Given the description of an element on the screen output the (x, y) to click on. 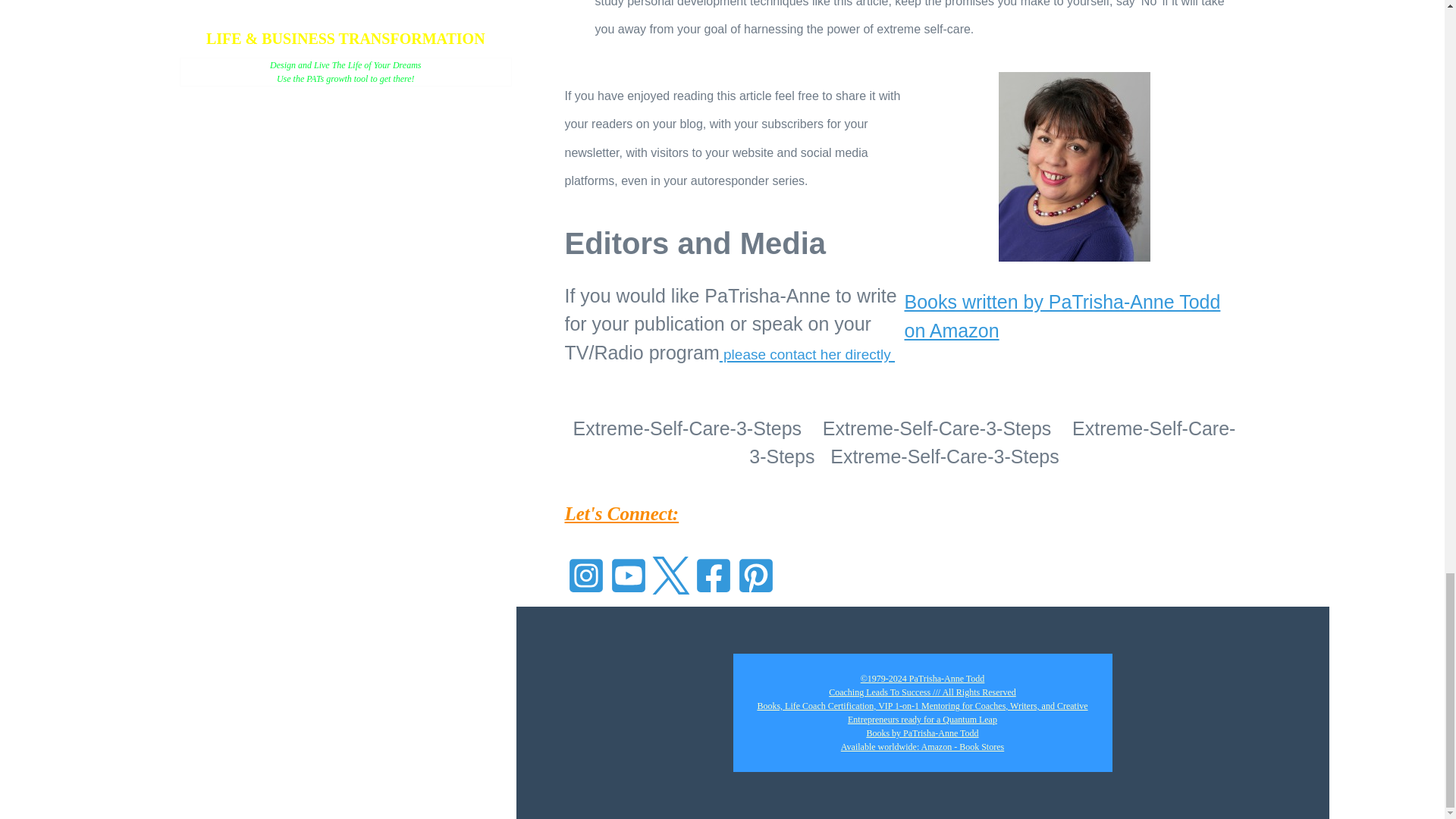
Visit us on Youtube (628, 573)
please contact her directly  (807, 351)
Like us on Facebook (712, 573)
Books written by PaTrisha-Anne Todd on Amazon (1062, 316)
Visit us on Pinterest (754, 573)
Follow us on Twitter (670, 573)
Follow us on Instagram (585, 573)
